Given the description of an element on the screen output the (x, y) to click on. 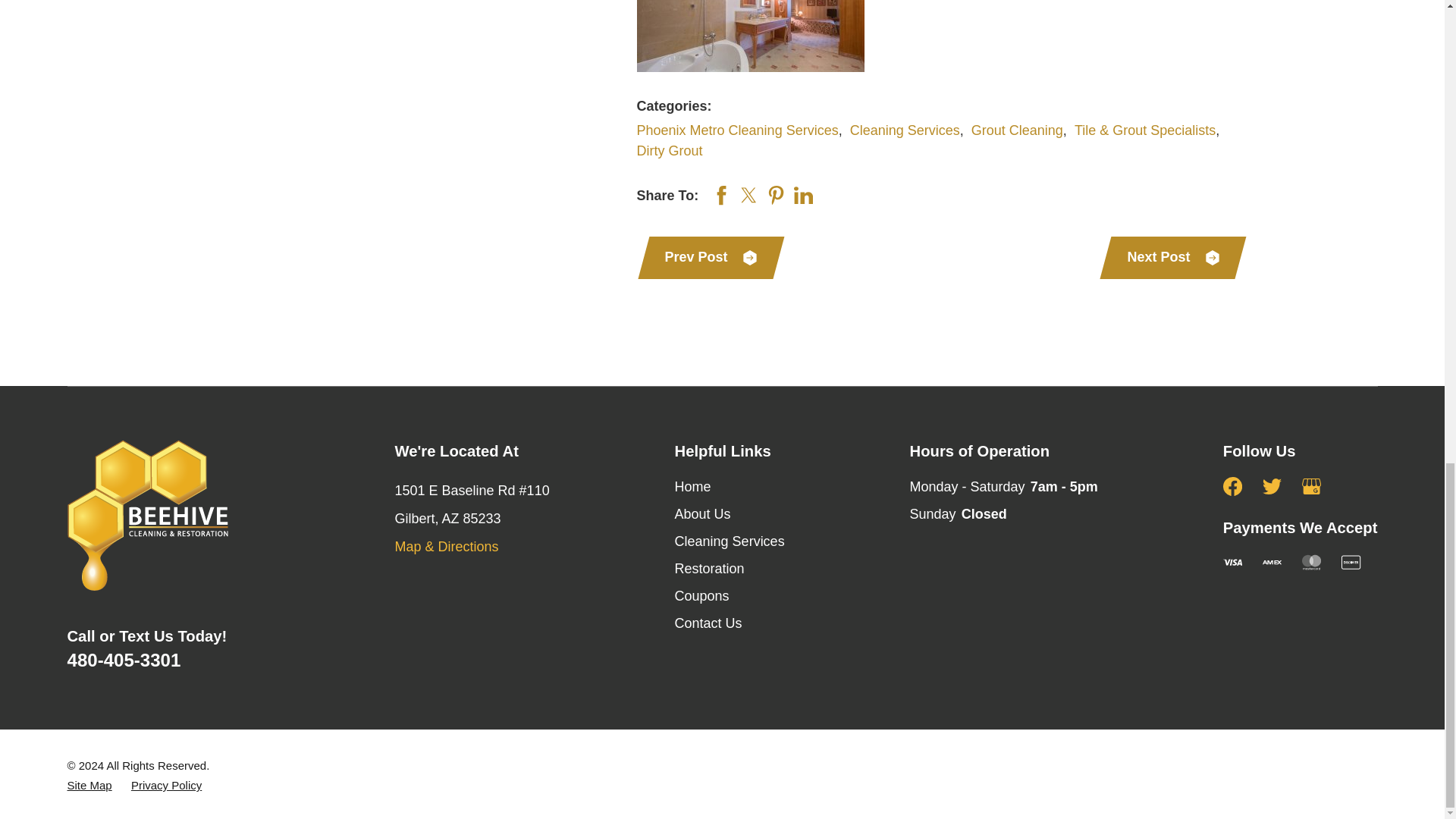
Facebook (1232, 486)
Google Business Profile (1310, 486)
MasterCard (1310, 561)
Twitter (1271, 486)
Home (175, 514)
Discover (1349, 561)
AMEX (1271, 561)
Visa (1232, 561)
